Given the description of an element on the screen output the (x, y) to click on. 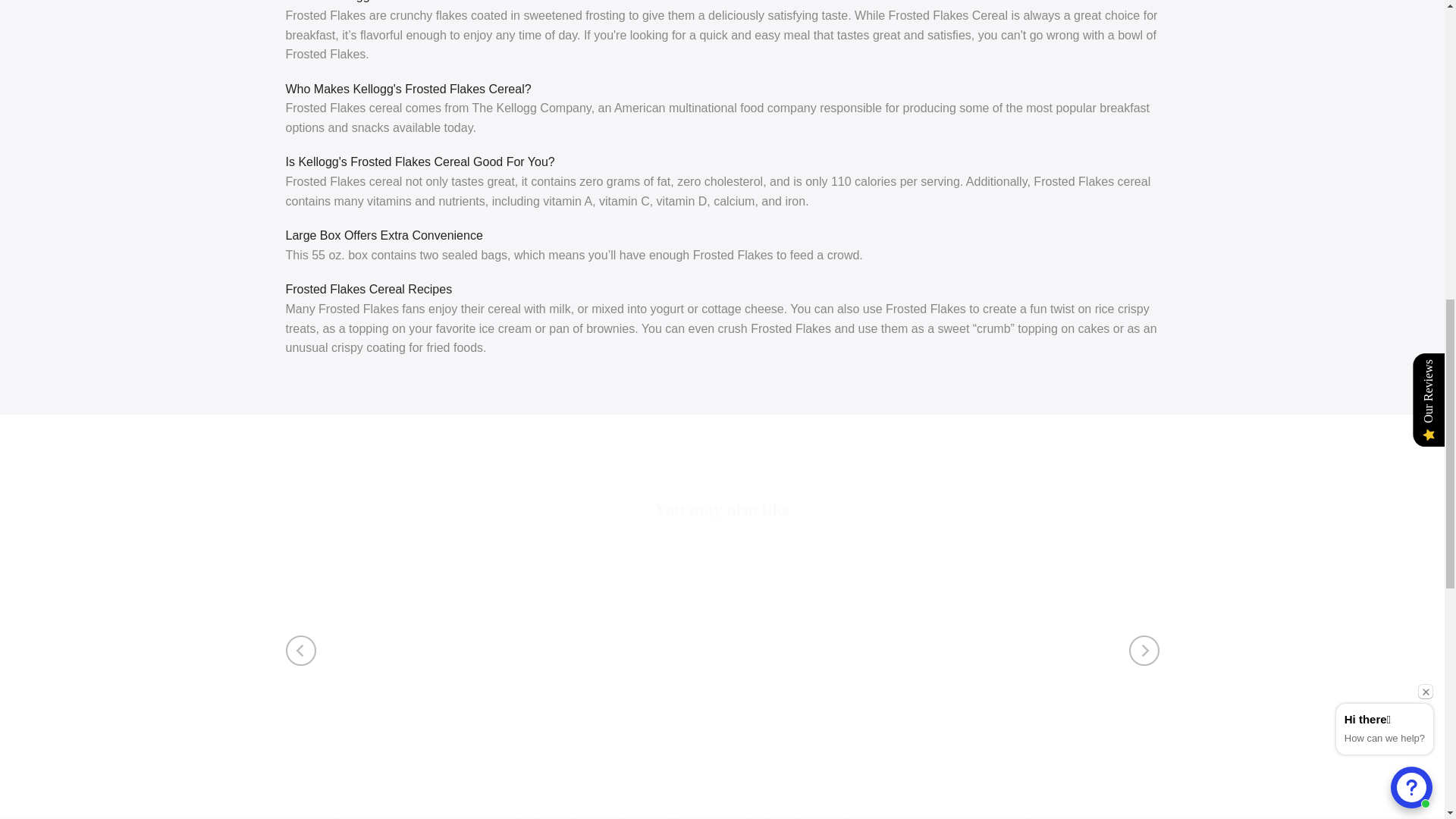
1 (806, 35)
